Given the description of an element on the screen output the (x, y) to click on. 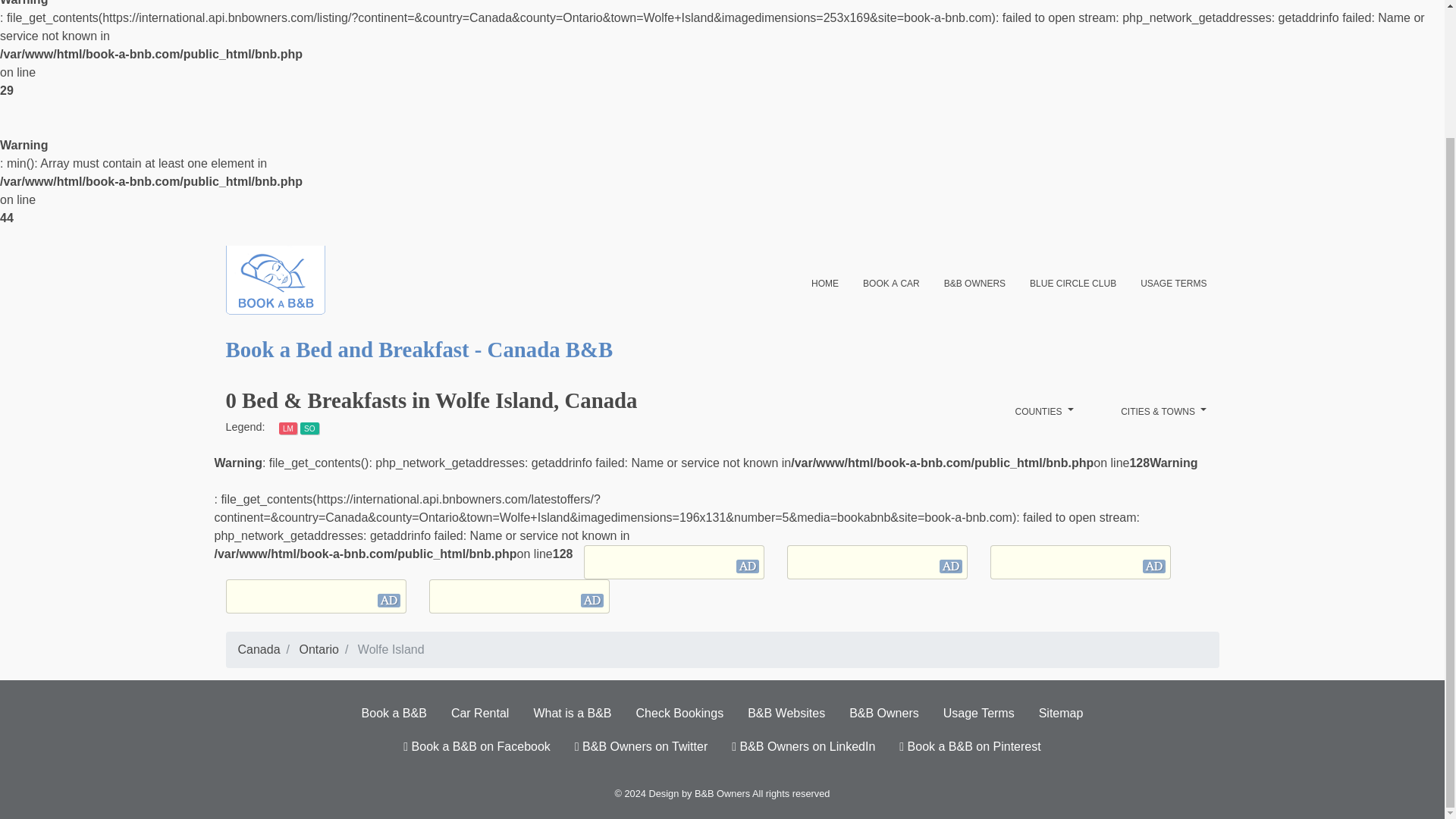
counties (1044, 410)
Check Bookings (680, 713)
book a car (890, 282)
usage terms (1173, 282)
Ontario (317, 649)
Canada (259, 649)
blue circle club (1072, 282)
Car Rental (480, 713)
Usage Terms (978, 713)
Wolfe Island (391, 649)
Sitemap (1061, 713)
All rights reserved (790, 793)
